Given the description of an element on the screen output the (x, y) to click on. 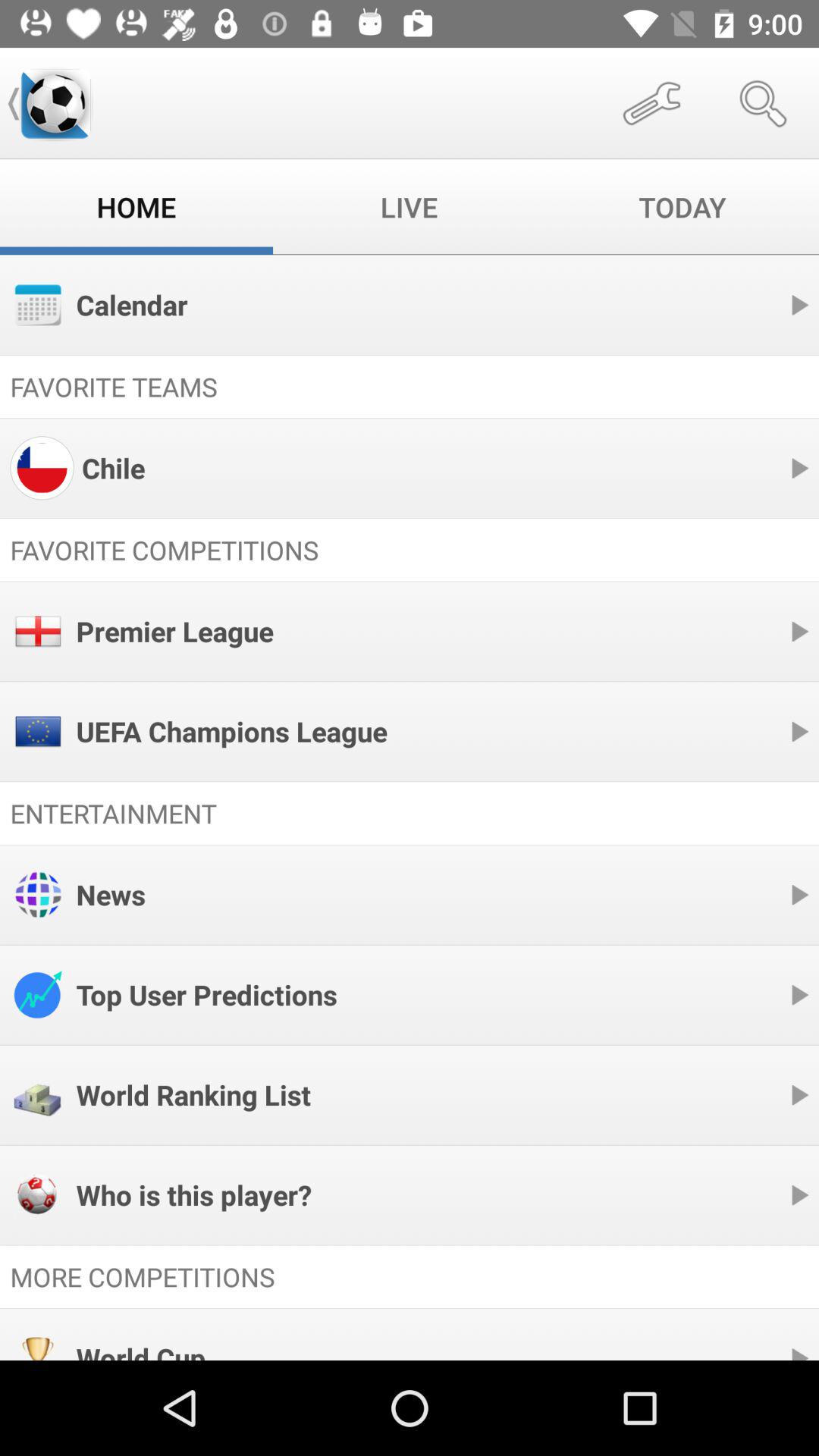
launch the icon above the home item (55, 103)
